Given the description of an element on the screen output the (x, y) to click on. 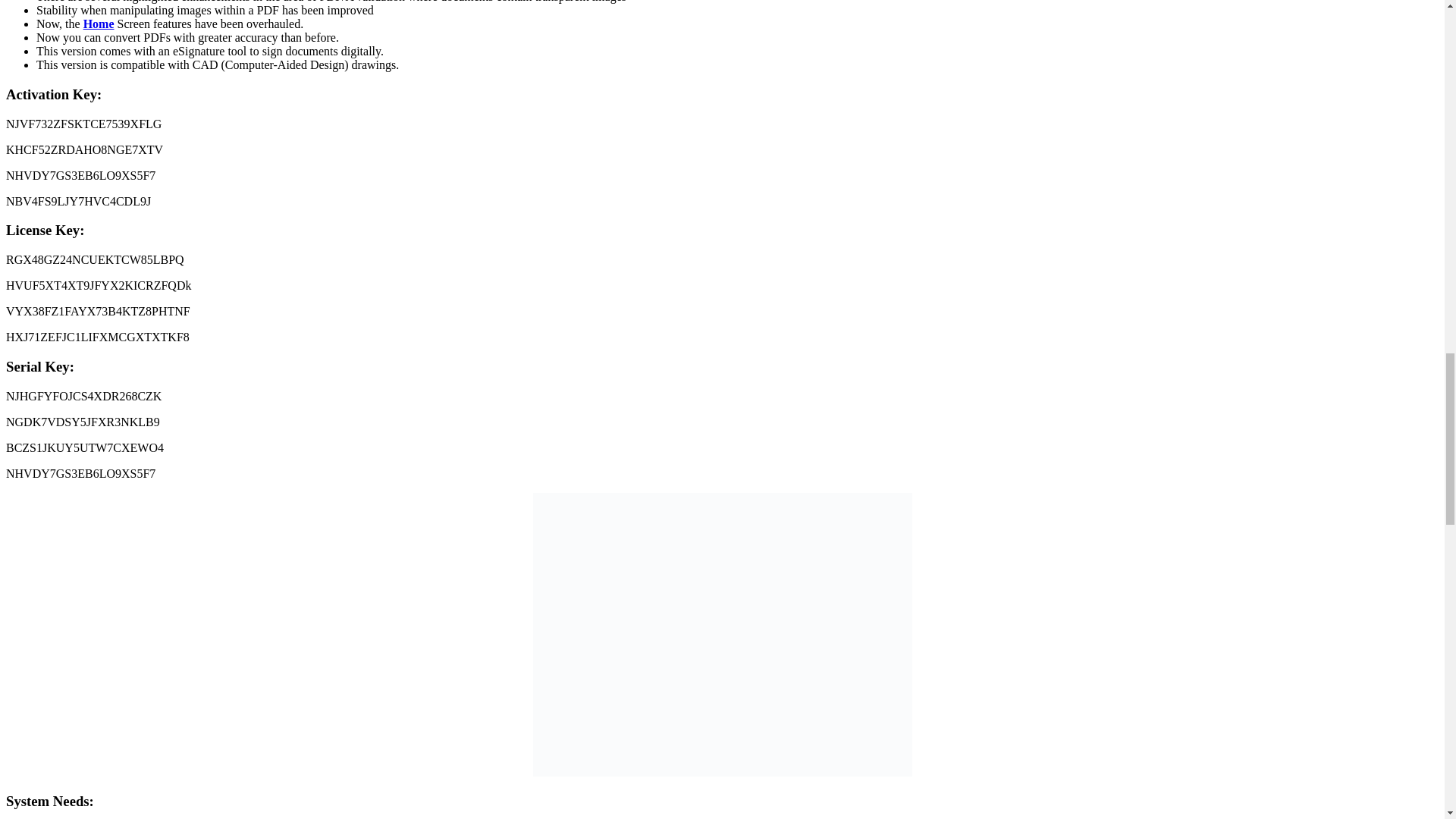
Home (98, 23)
